Given the description of an element on the screen output the (x, y) to click on. 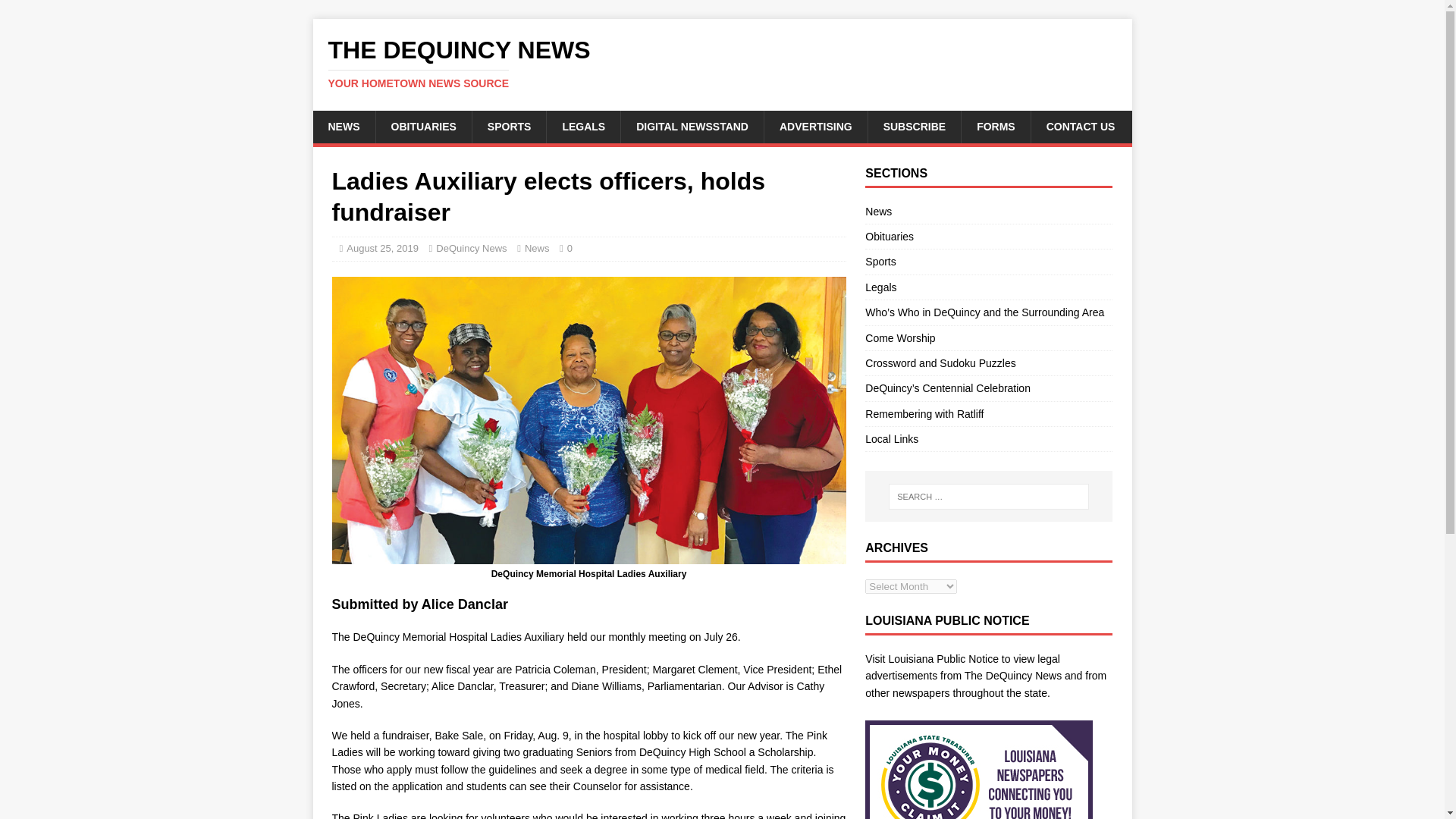
SUBSCRIBE (913, 126)
LEGALS (583, 126)
Crossword and Sudoku Puzzles (988, 363)
News (537, 247)
Louisiana Public Notice (943, 658)
DeQuincy News (470, 247)
The DeQuincy News (721, 63)
ADVERTISING (814, 126)
FORMS (995, 126)
Local Links (988, 438)
Search (56, 11)
OBITUARIES (422, 126)
Legals (988, 287)
DIGITAL NEWSSTAND (691, 126)
Remembering with Ratliff (988, 413)
